Given the description of an element on the screen output the (x, y) to click on. 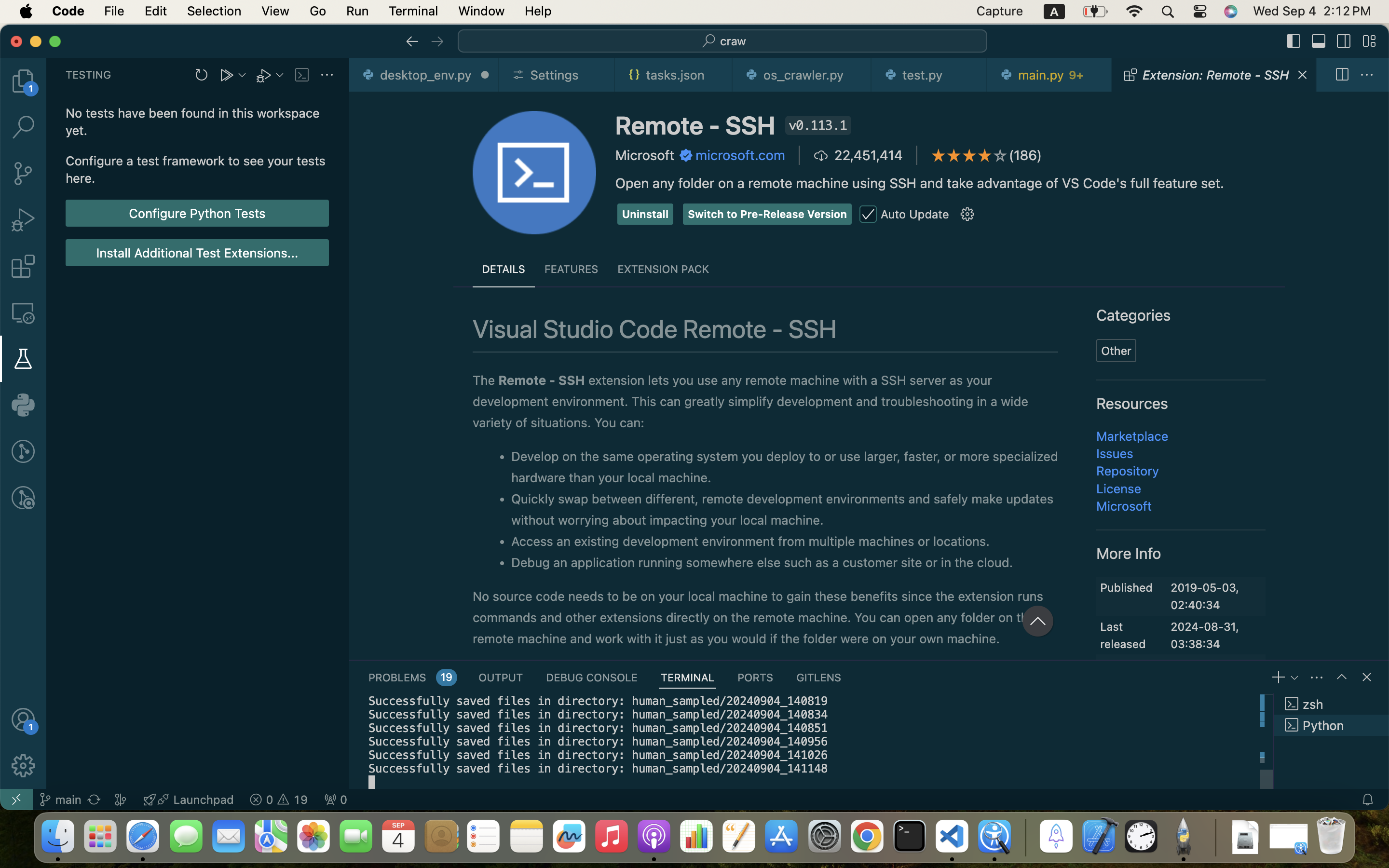
 Element type: AXButton (437, 41)
0 main.py   9+ Element type: AXRadioButton (1049, 74)
1 TERMINAL Element type: AXRadioButton (687, 676)
0 Element type: AXRadioButton (23, 404)
 Element type: AXStaticText (1366, 74)
